Given the description of an element on the screen output the (x, y) to click on. 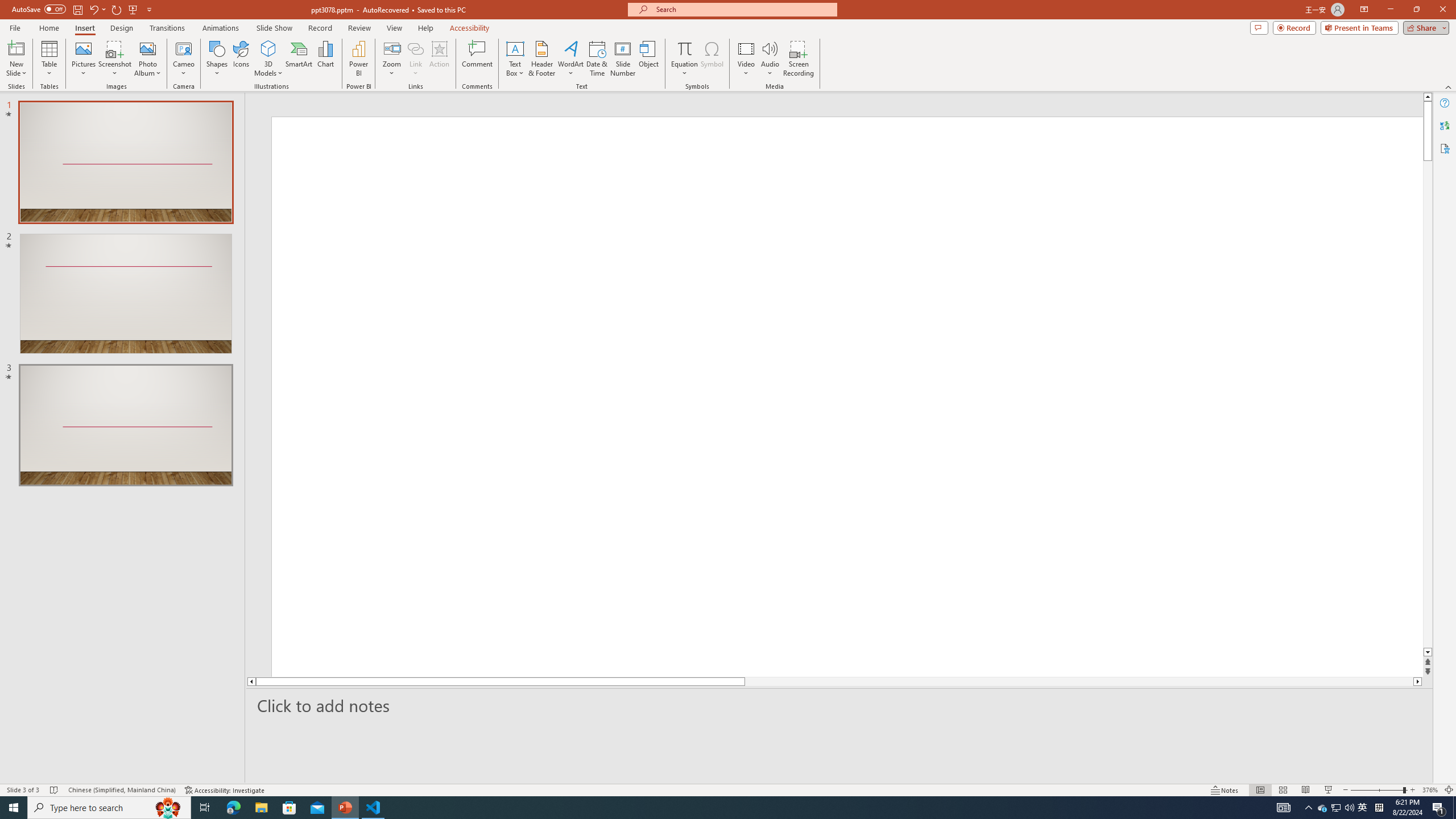
Header & Footer... (541, 58)
